Given the description of an element on the screen output the (x, y) to click on. 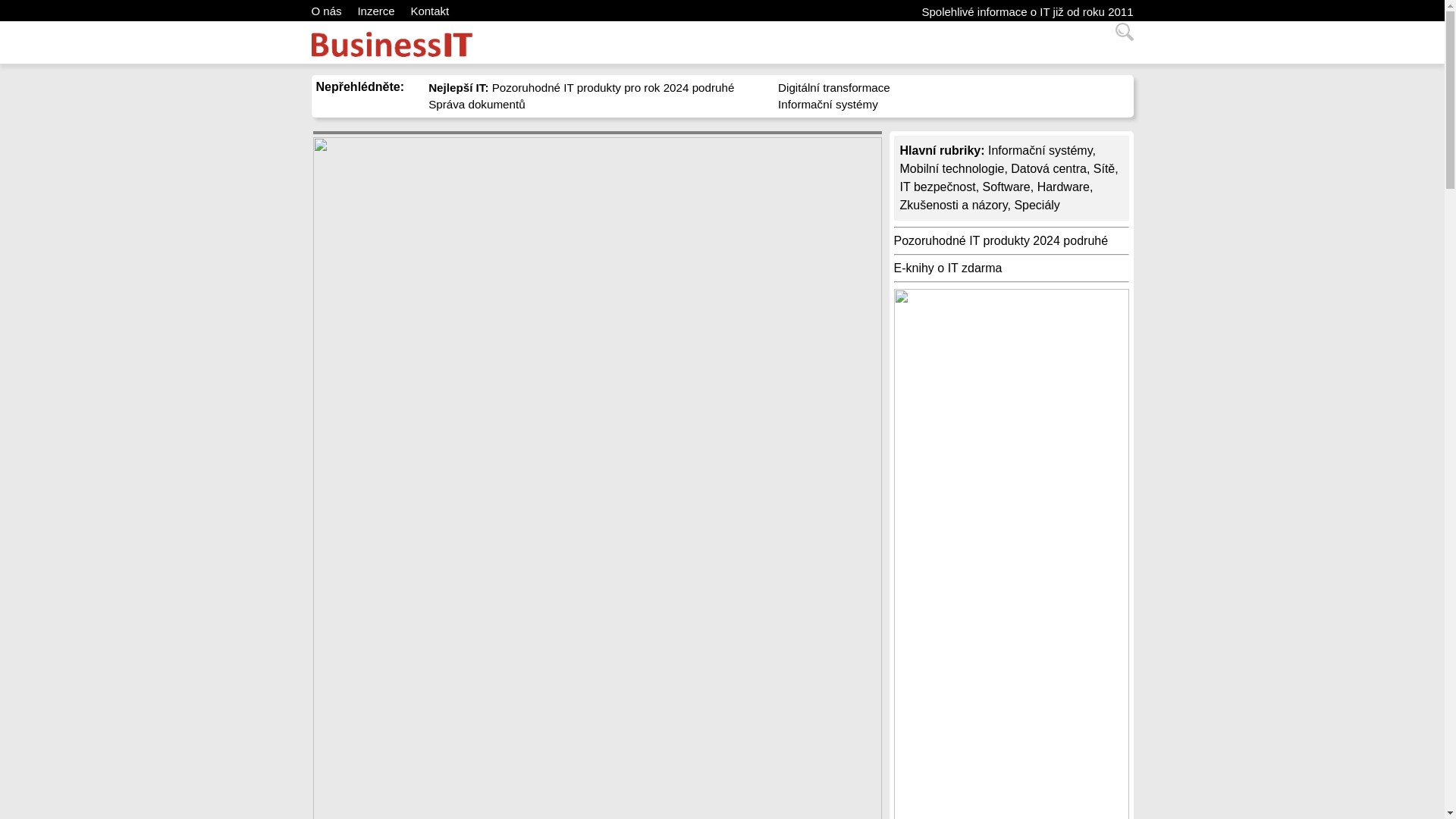
Inzerce (375, 10)
E-knihy o IT zdarma (947, 267)
Software (1006, 186)
Kontakt (429, 10)
Hardware (1062, 186)
